Given the description of an element on the screen output the (x, y) to click on. 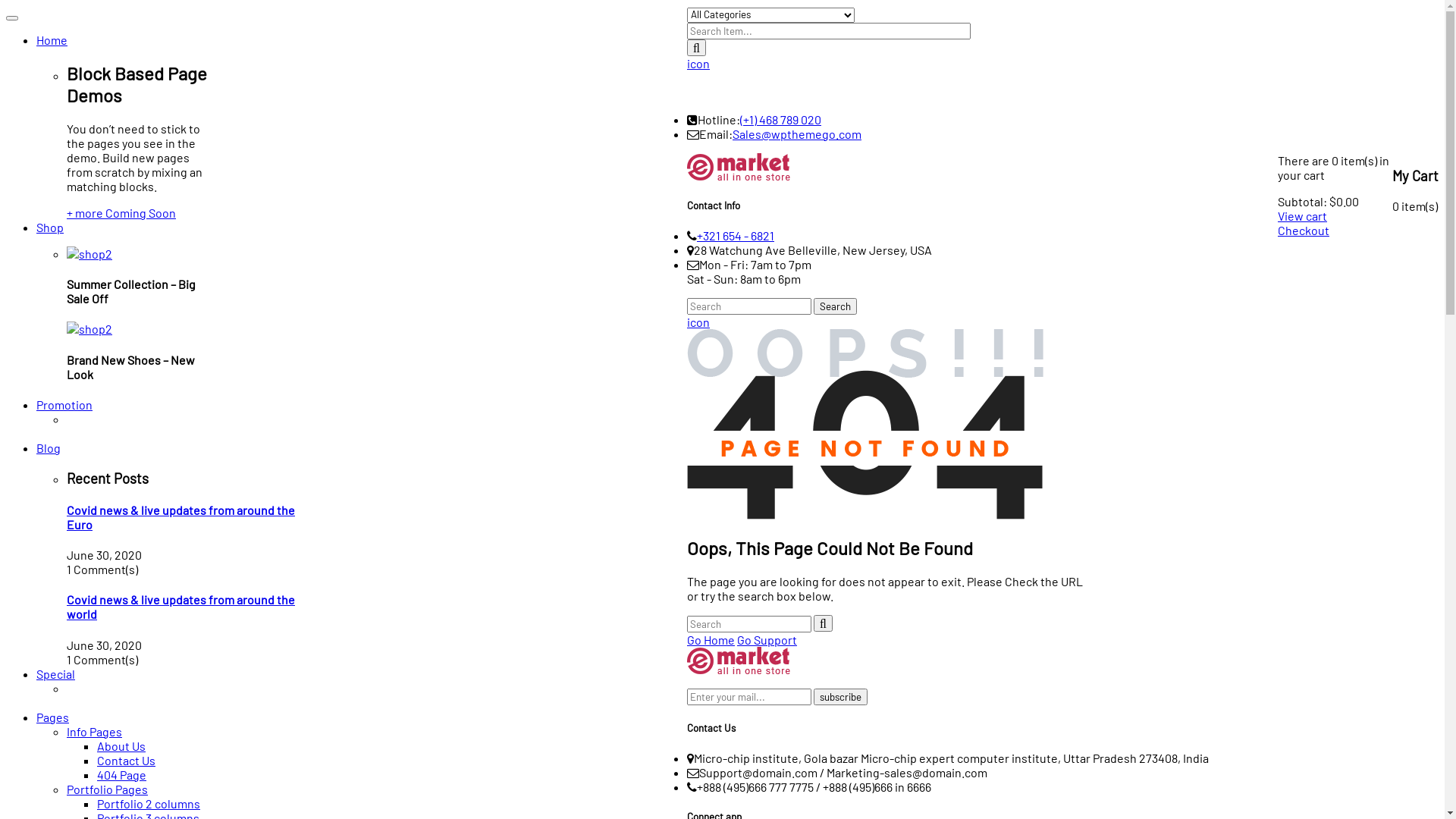
View cart Element type: text (1302, 214)
Contact Us Element type: text (126, 760)
Portfolio Pages Element type: text (106, 788)
Info Pages Element type: text (94, 731)
Pages Element type: text (52, 716)
icon Element type: text (698, 321)
Checkout Element type: text (1303, 229)
About Us Element type: text (121, 745)
+321 654 - 6821 Element type: text (735, 235)
+ more Coming Soon Element type: text (120, 212)
Sales@wpthemego.com Element type: text (796, 132)
Covid news & live updates from around the world Element type: text (180, 606)
Promotion Element type: text (64, 404)
logo-home34 Element type: hover (738, 83)
Toggle navigation Element type: text (12, 17)
Covid news & live updates from around the Euro Element type: text (180, 516)
Search Element type: text (834, 306)
logo-footer-34 Element type: hover (738, 166)
icon Element type: text (698, 63)
subscribe Element type: text (840, 696)
Go Home Element type: text (710, 639)
(+1) 468 789 020 Element type: text (780, 119)
404 Page Element type: text (121, 774)
Home Element type: text (51, 39)
Shop Element type: text (49, 226)
Special Element type: text (55, 673)
Go Support Element type: text (767, 639)
logo-footer-34 Element type: hover (738, 660)
Blog Element type: text (48, 447)
Portfolio 2 columns Element type: text (148, 803)
